Given the description of an element on the screen output the (x, y) to click on. 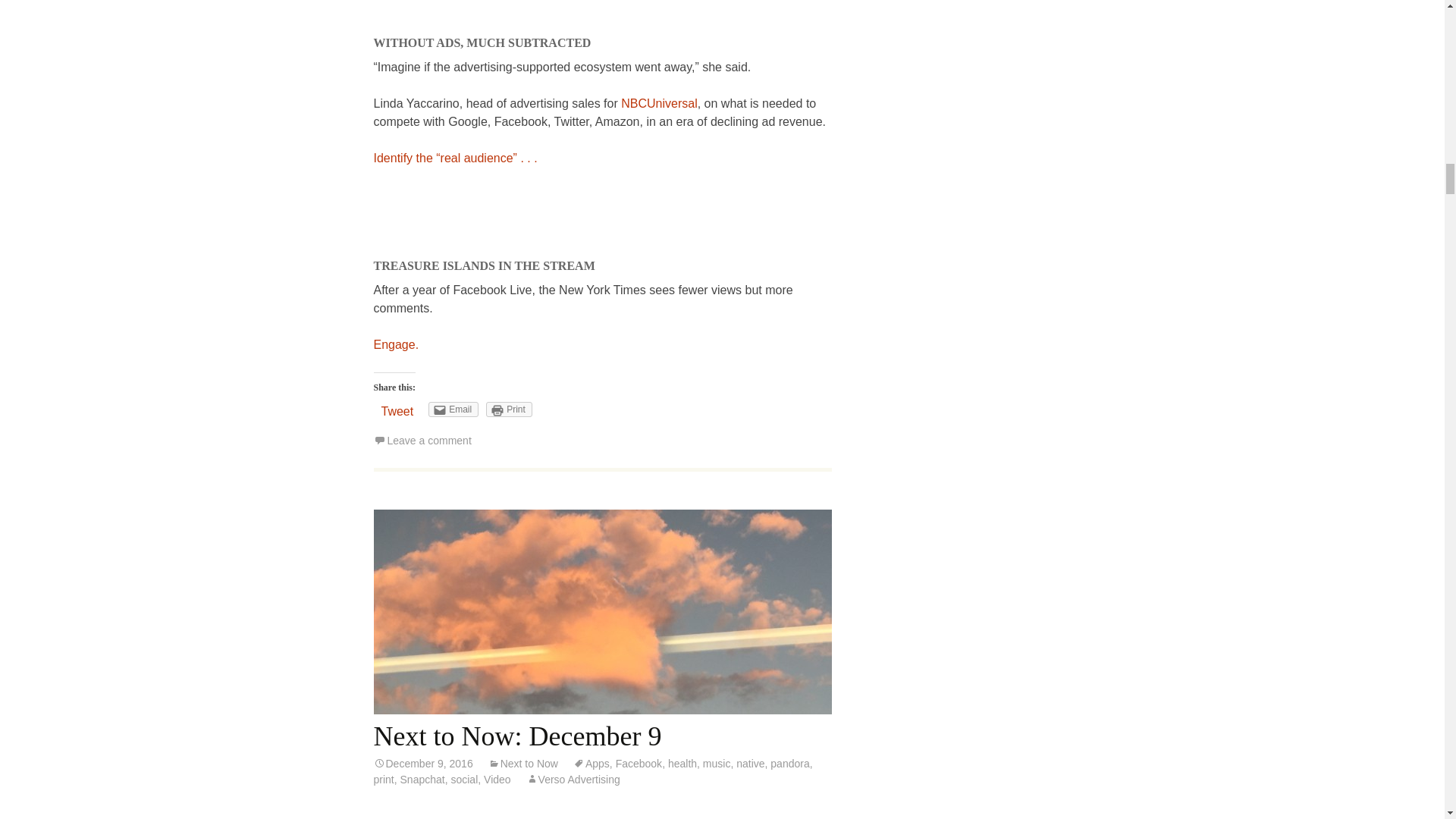
Click to email this to a friend (453, 409)
Click to print (509, 409)
View all posts by Verso Advertising (572, 779)
Permalink to Next to Now: December 9 (421, 763)
More articles about NBC Universal. (659, 103)
